Given the description of an element on the screen output the (x, y) to click on. 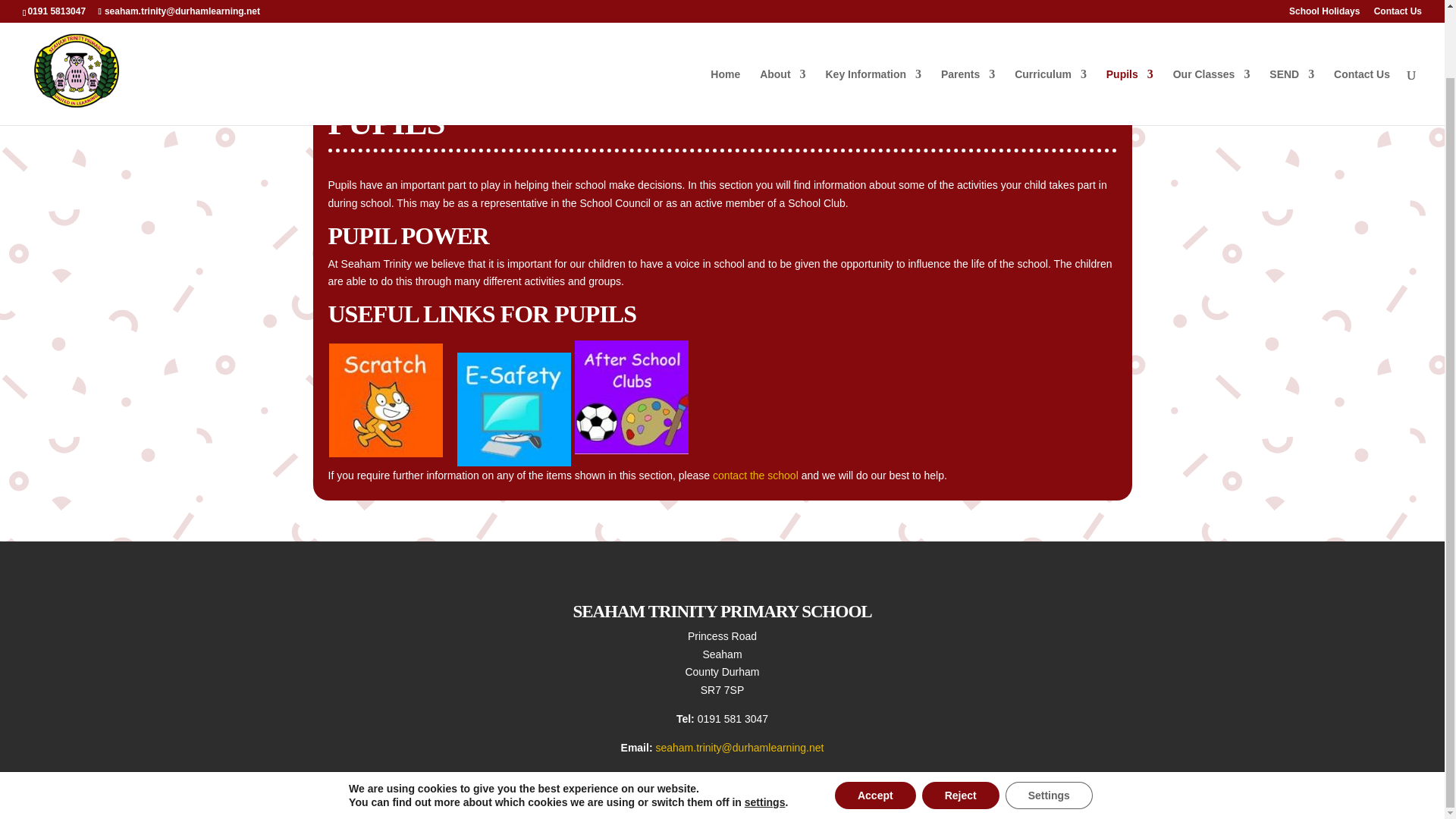
Parents (967, 24)
Curriculum (1050, 24)
Contact Us (757, 475)
Key Information (873, 24)
About (782, 24)
Pupils (1129, 24)
